Given the description of an element on the screen output the (x, y) to click on. 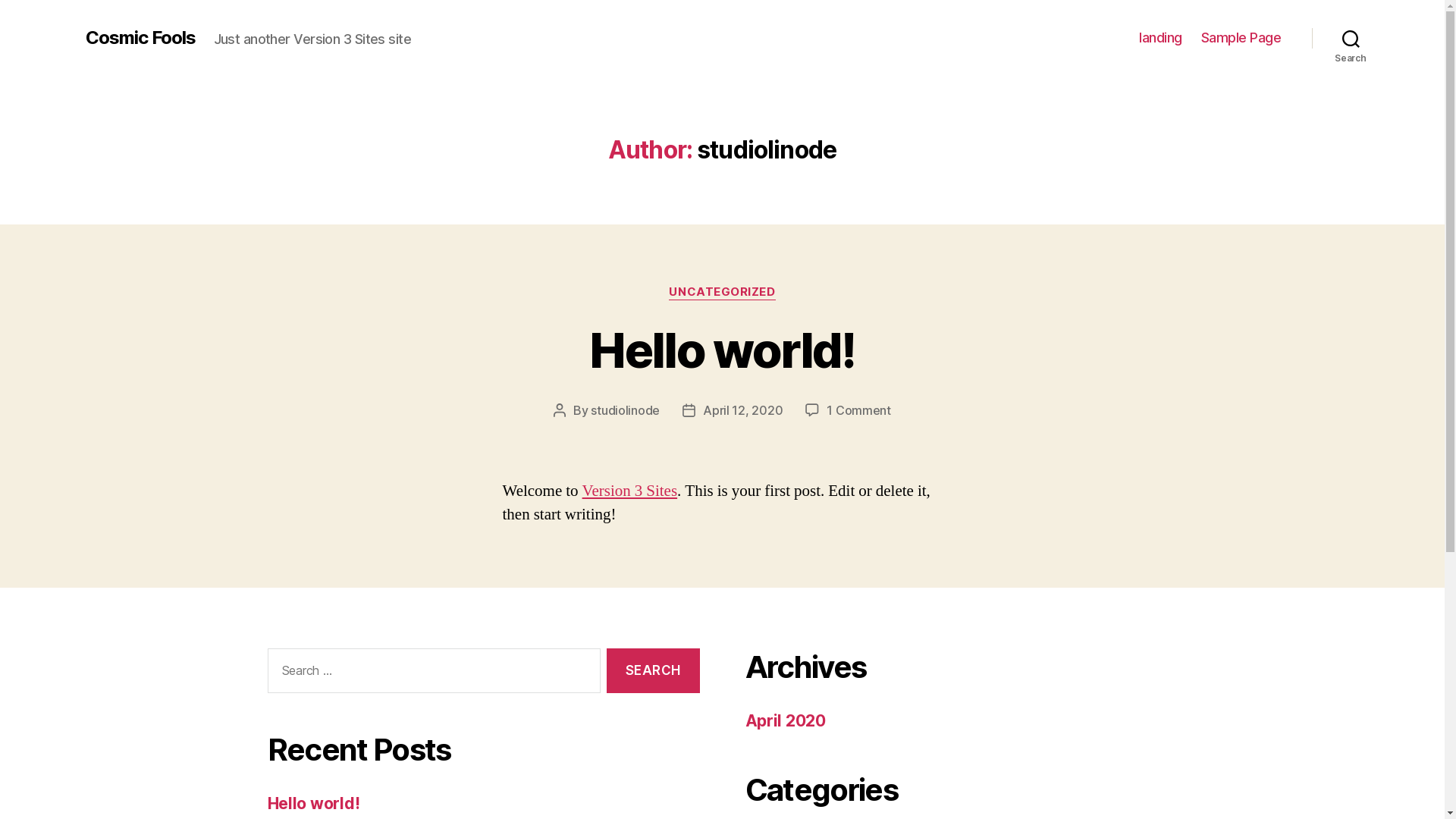
April 12, 2020 Element type: text (742, 409)
Search Element type: text (1350, 37)
1 Comment
on Hello world! Element type: text (858, 409)
Hello world! Element type: text (312, 802)
studiolinode Element type: text (624, 409)
Cosmic Fools Element type: text (139, 37)
Hello world! Element type: text (721, 349)
Version 3 Sites Element type: text (629, 490)
UNCATEGORIZED Element type: text (721, 292)
Sample Page Element type: text (1241, 37)
landing Element type: text (1160, 37)
April 2020 Element type: text (784, 720)
Search Element type: text (652, 670)
